Given the description of an element on the screen output the (x, y) to click on. 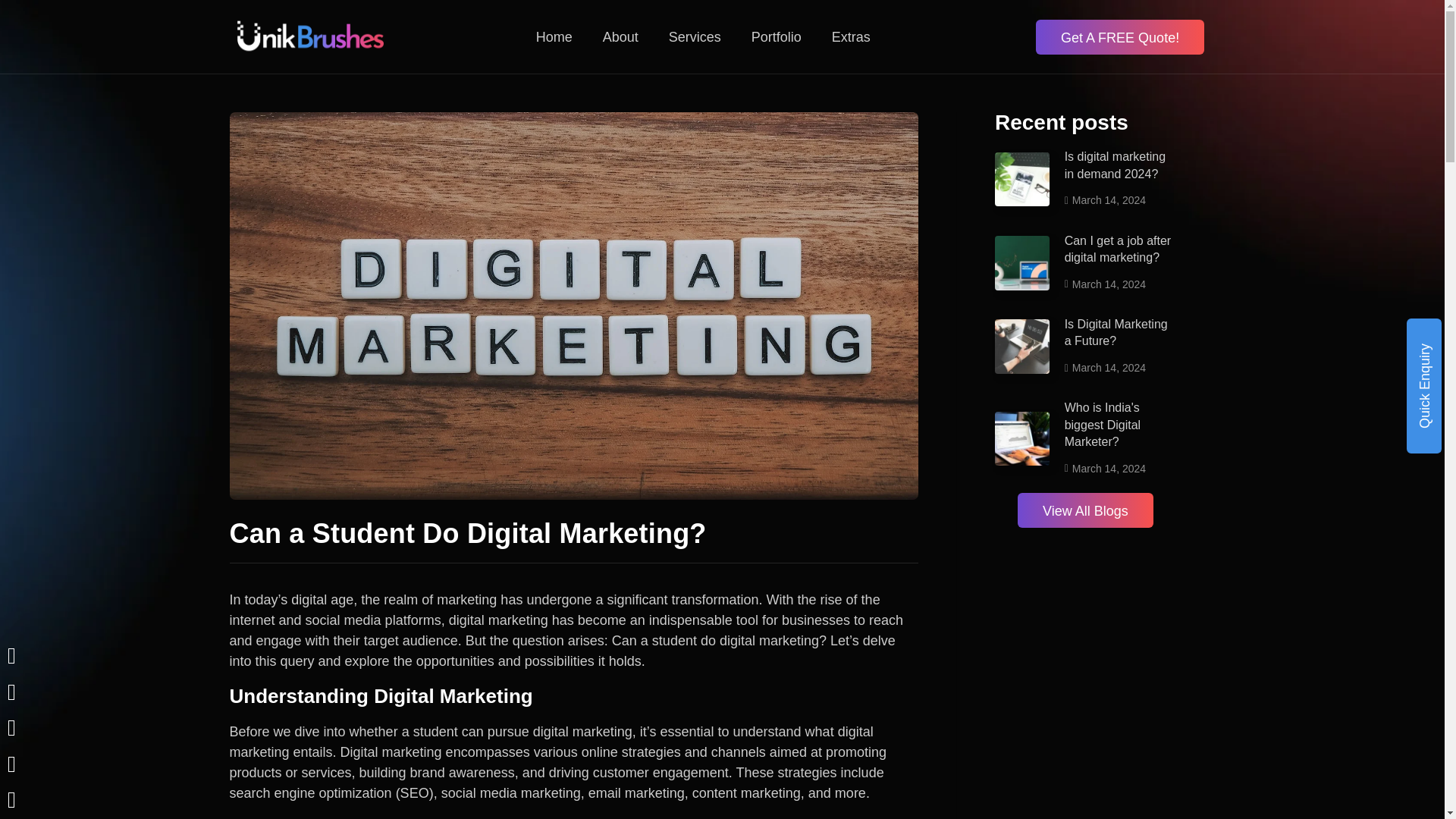
Is digital marketing in demand 2024? 1 (1021, 179)
Get A FREE Quote! (1119, 36)
Services (694, 36)
About (620, 36)
Extras (850, 36)
Portfolio (776, 36)
Who is India's biggest Digital Marketer? 4 (1021, 438)
Can I get a job after digital marketing? 2 (1021, 262)
Is Digital Marketing a Future? 3 (1021, 346)
Home (554, 36)
